Given the description of an element on the screen output the (x, y) to click on. 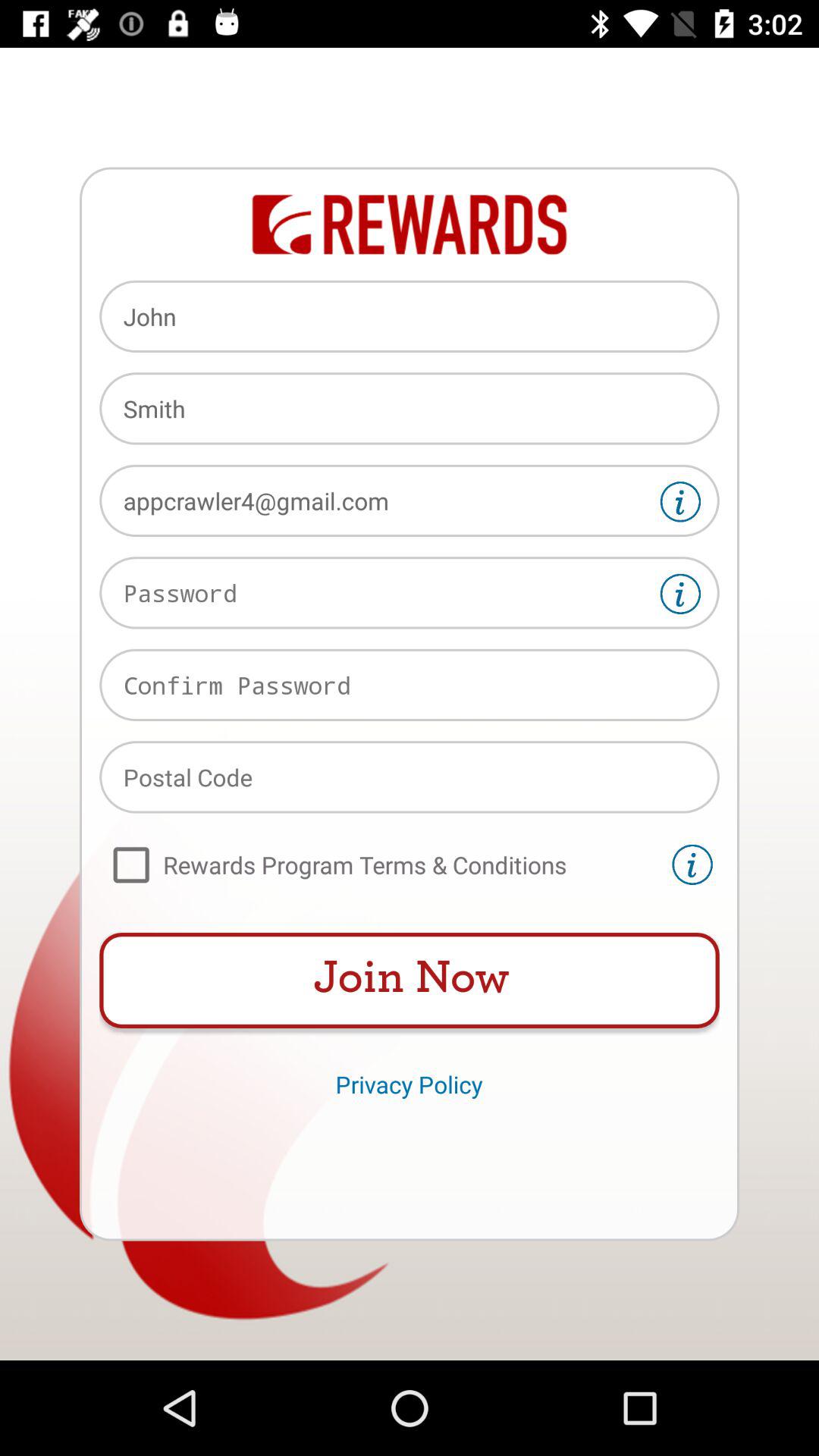
flip until john icon (409, 316)
